Given the description of an element on the screen output the (x, y) to click on. 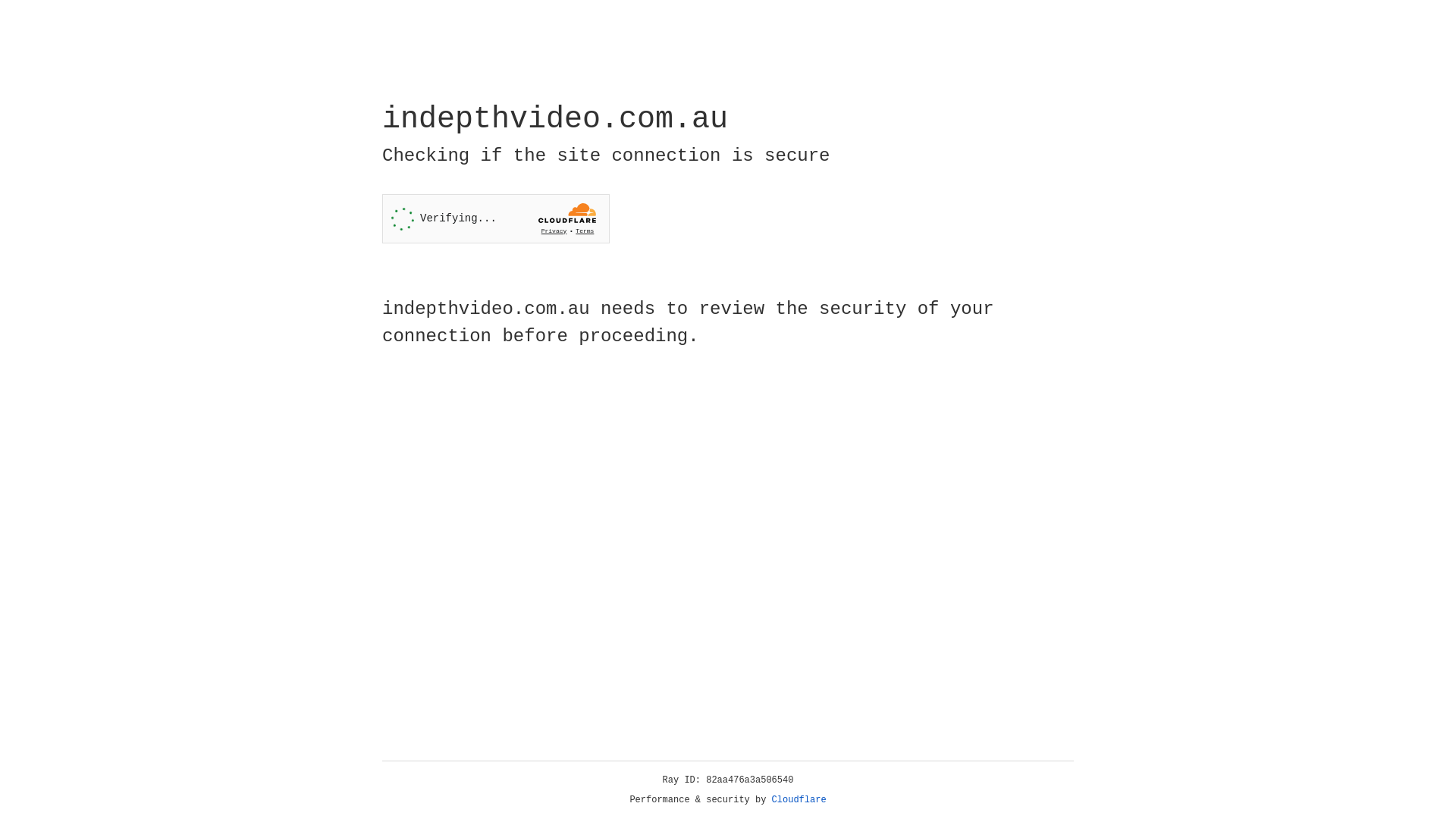
Cloudflare Element type: text (798, 799)
Widget containing a Cloudflare security challenge Element type: hover (495, 218)
